Given the description of an element on the screen output the (x, y) to click on. 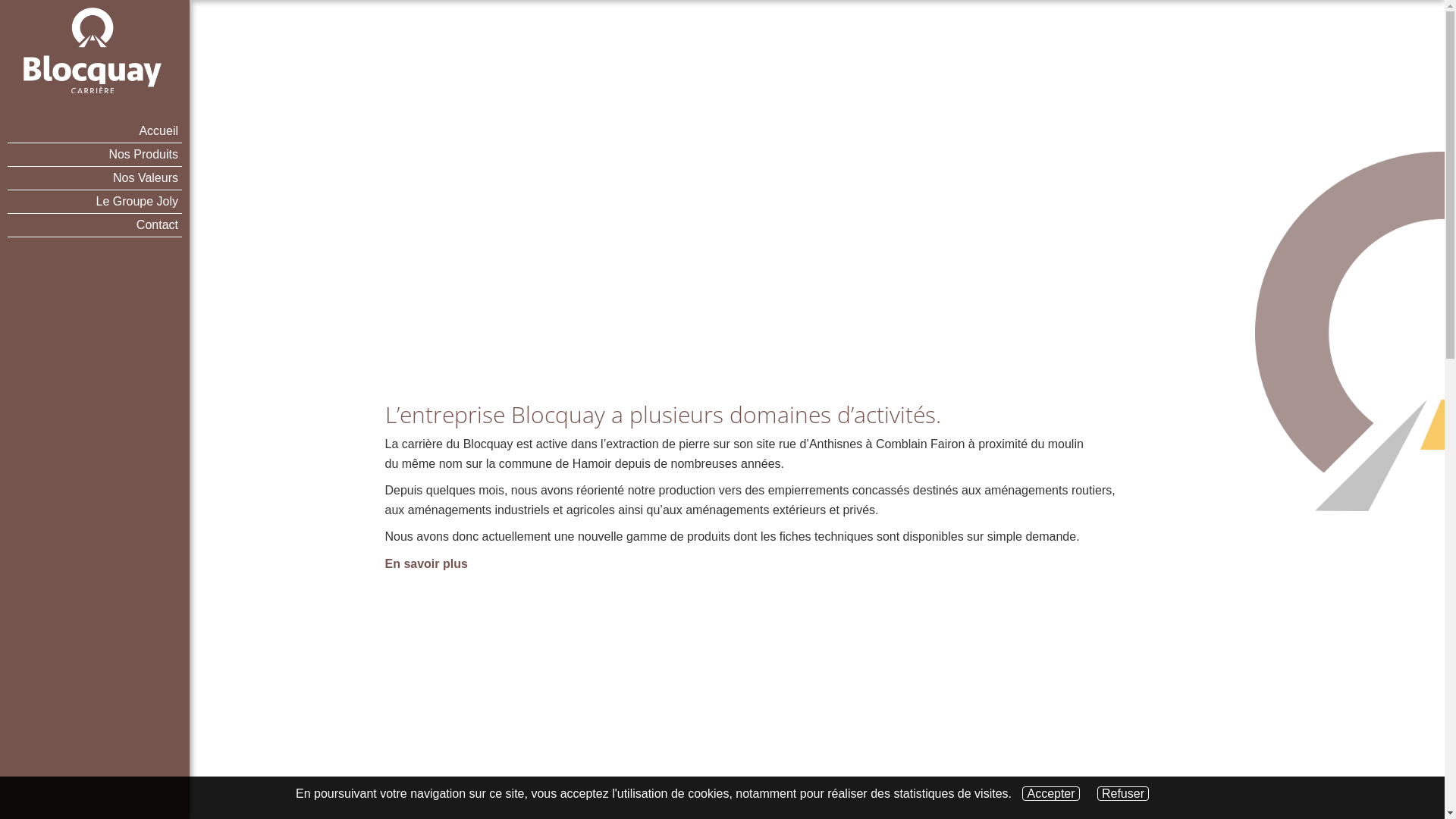
Accueil Element type: text (94, 131)
Le Groupe Joly Element type: text (94, 201)
Refuser Element type: text (1122, 793)
Nos Produits Element type: text (94, 154)
Contact Element type: text (94, 225)
En savoir plus Element type: text (426, 563)
Accepter Element type: text (1050, 793)
Nos Valeurs Element type: text (94, 178)
